Given the description of an element on the screen output the (x, y) to click on. 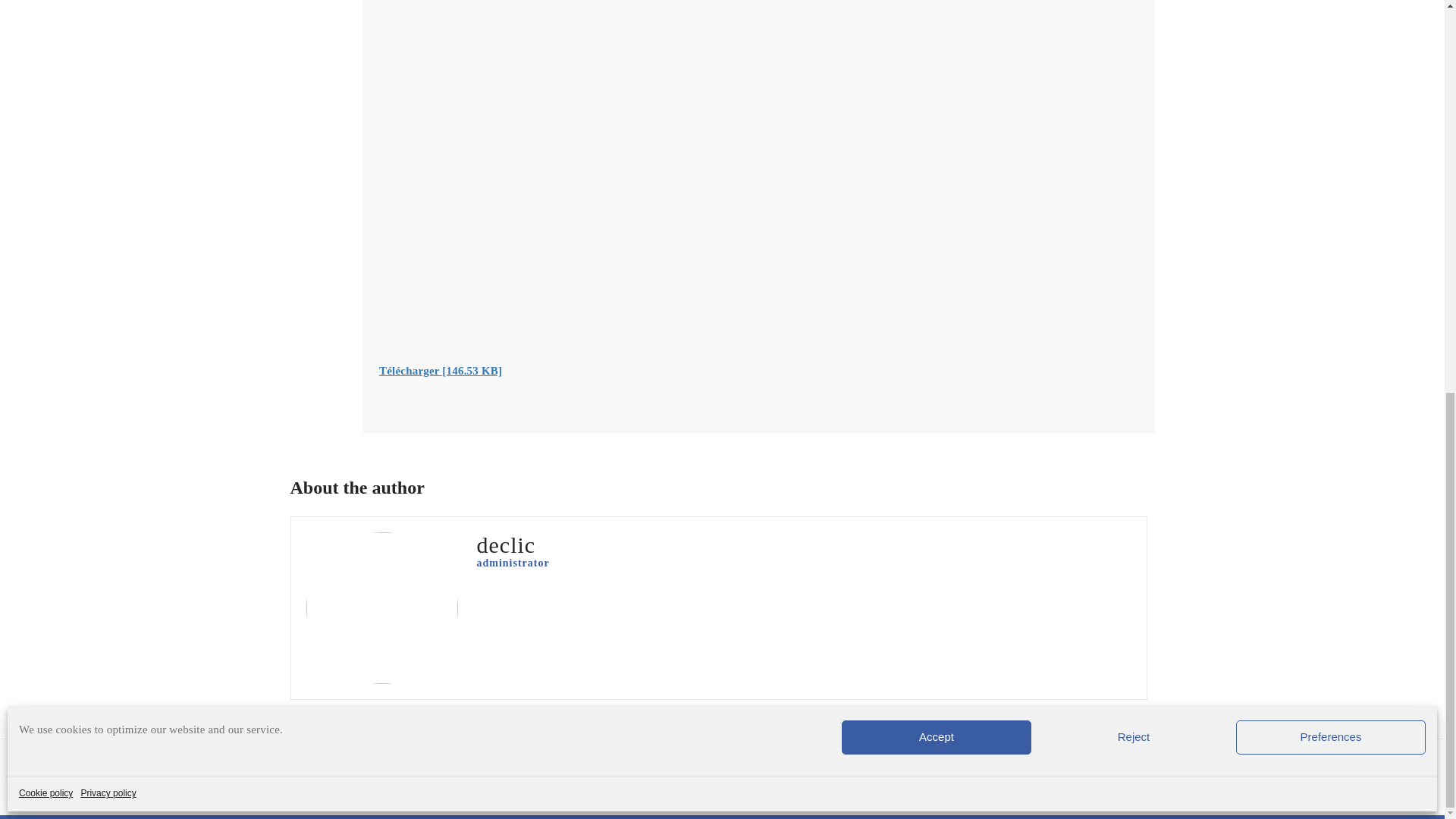
Cookie policy (45, 448)
Preferences (1330, 392)
Privacy policy (107, 448)
Reject (1133, 392)
Accept (935, 392)
